Given the description of an element on the screen output the (x, y) to click on. 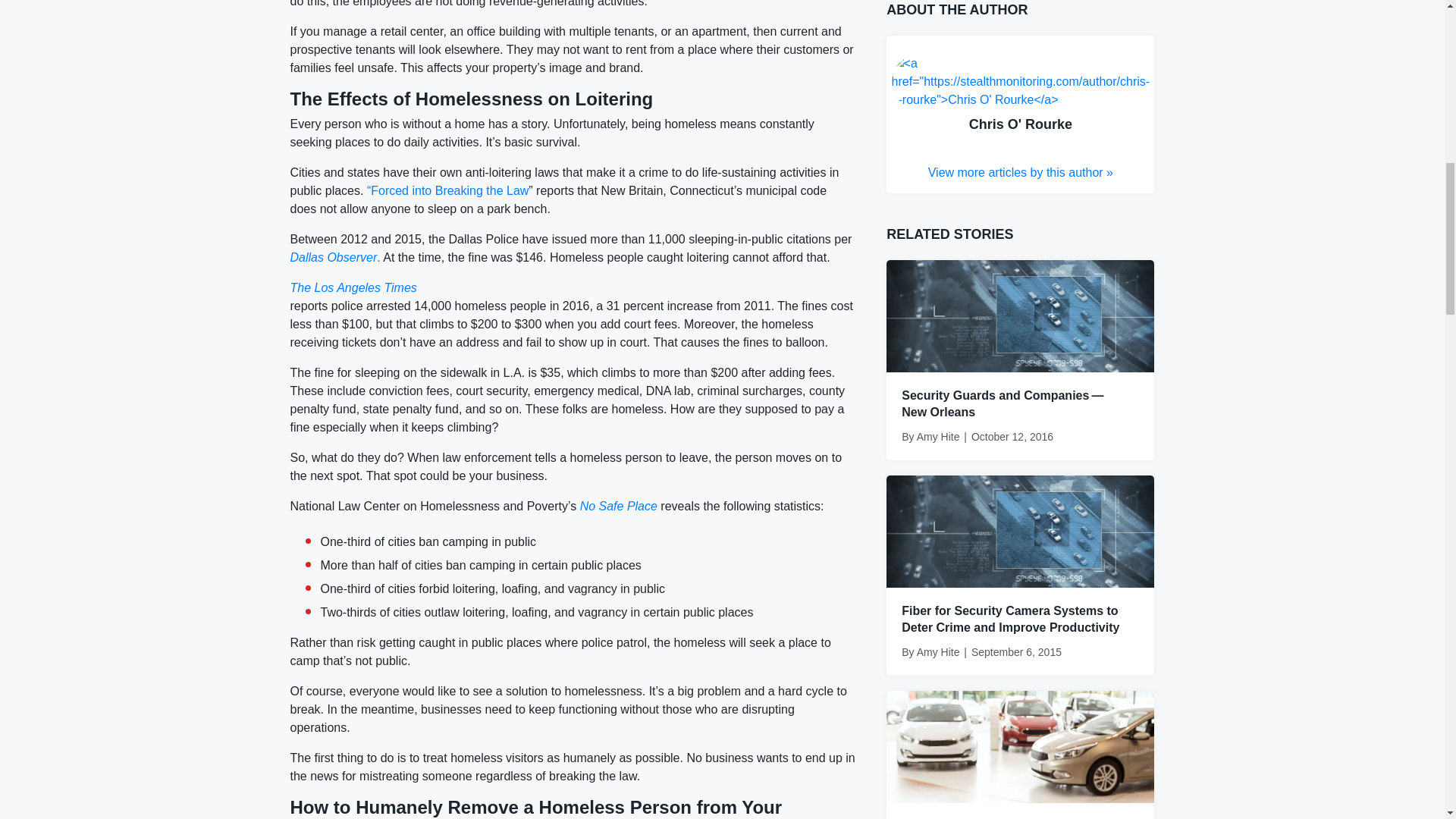
How Your Dealership Can Gain the Upper Hand Over Criminals (1020, 745)
